Given the description of an element on the screen output the (x, y) to click on. 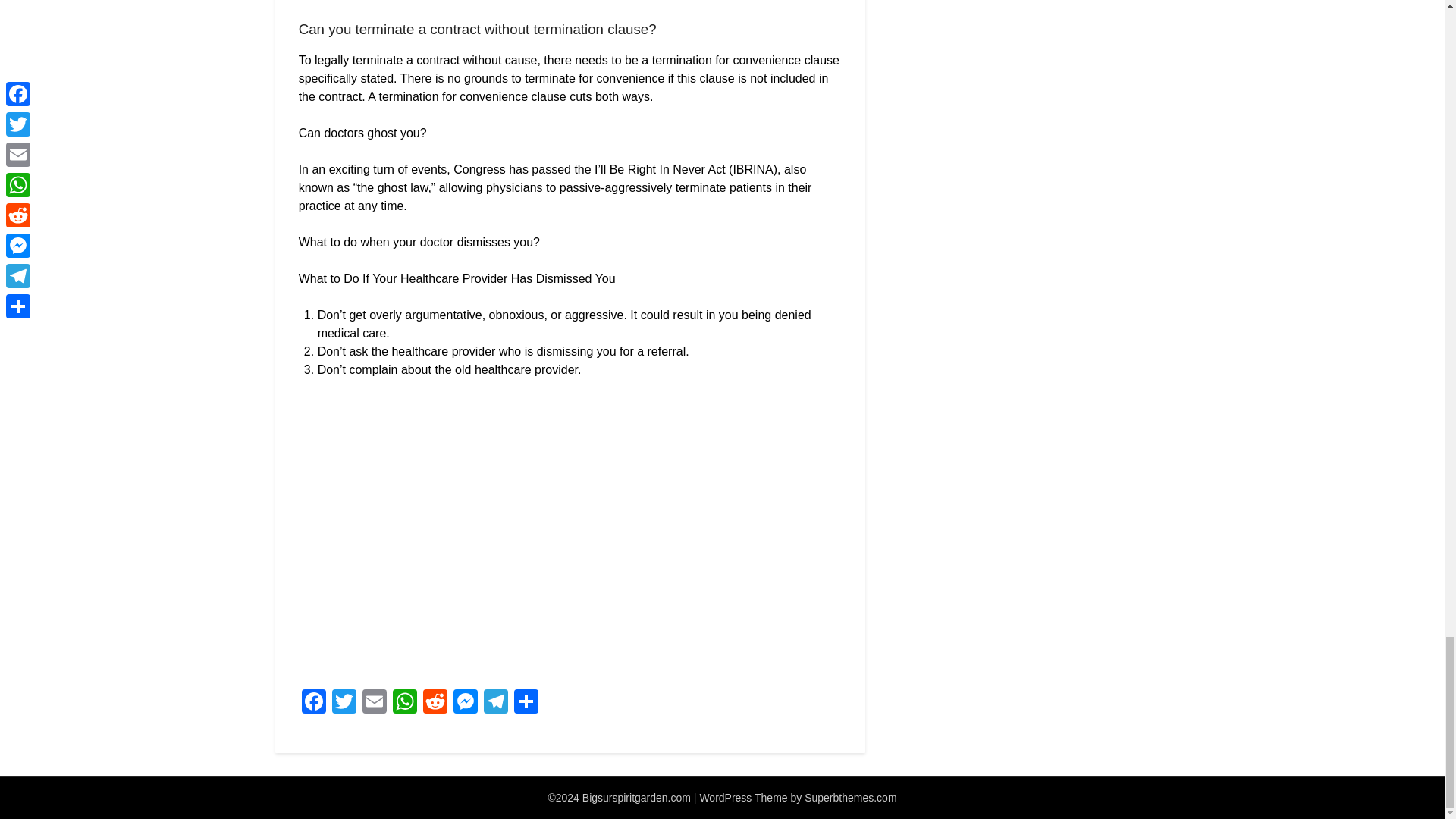
Telegram (495, 703)
Telegram (495, 703)
Share (526, 703)
Email (374, 703)
Facebook (313, 703)
Reddit (434, 703)
Messenger (464, 703)
Facebook (313, 703)
Messenger (464, 703)
Twitter (344, 703)
Email (374, 703)
Reddit (434, 703)
WhatsApp (405, 703)
Twitter (344, 703)
WhatsApp (405, 703)
